Given the description of an element on the screen output the (x, y) to click on. 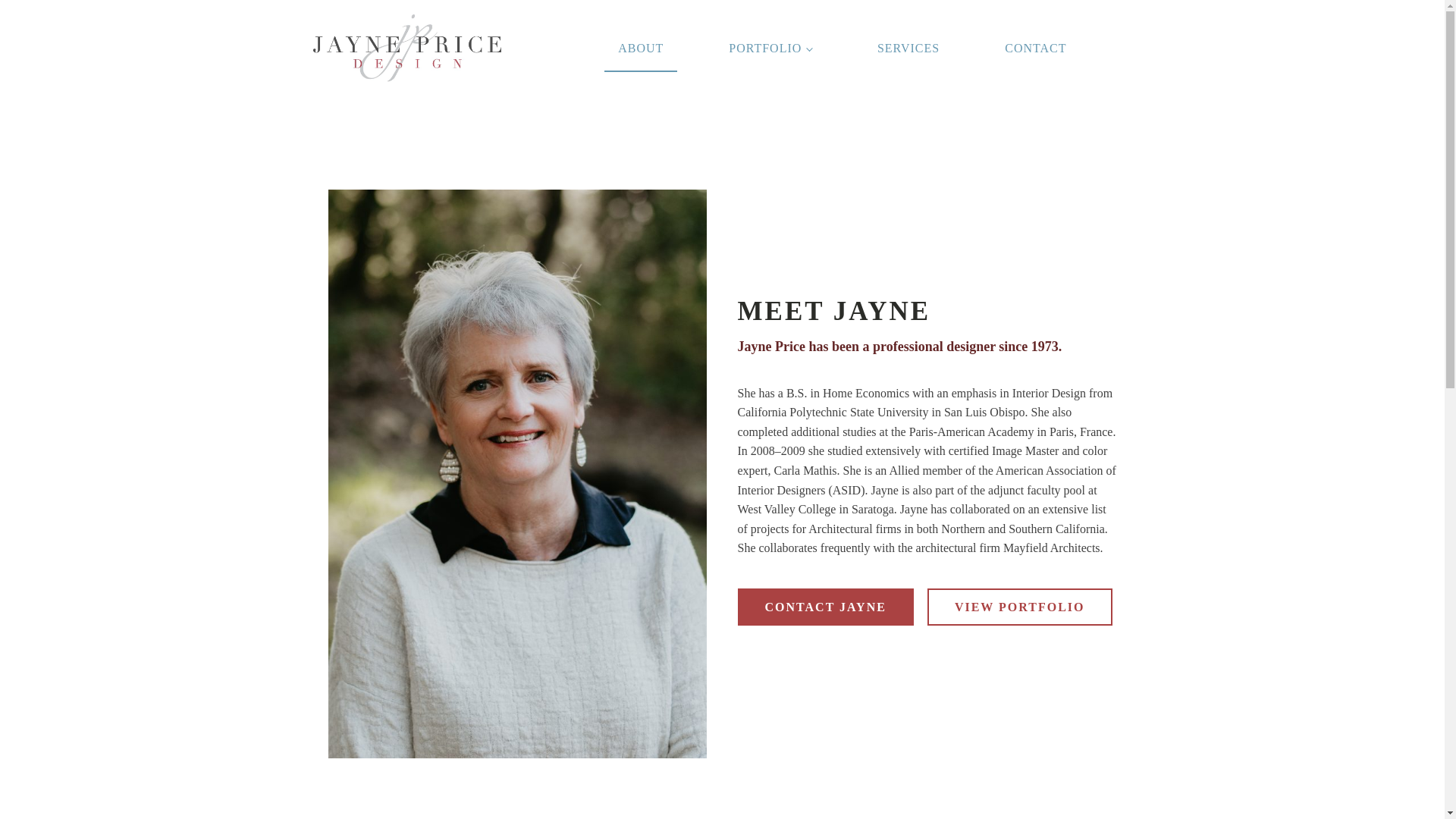
PORTFOLIO (769, 48)
CONTACT (1035, 48)
CONTACT JAYNE (824, 606)
VIEW PORTFOLIO (1019, 606)
ABOUT (640, 48)
SERVICES (908, 48)
